Given the description of an element on the screen output the (x, y) to click on. 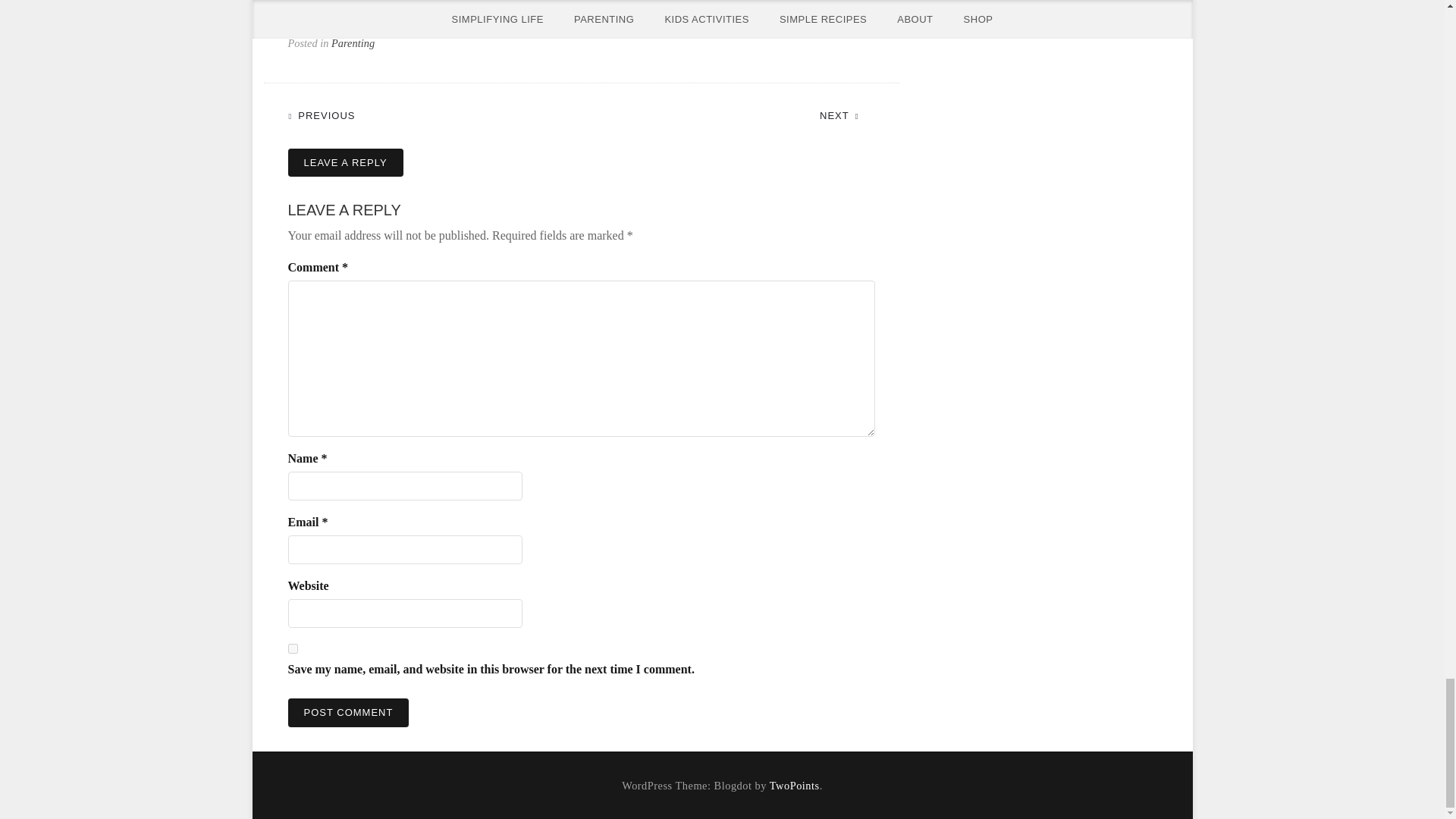
NEXT (846, 114)
Parenting (352, 42)
PREVIOUS (329, 114)
LEAVE A REPLY (345, 162)
yes (293, 648)
Post Comment (348, 712)
Post Comment (348, 712)
